Given the description of an element on the screen output the (x, y) to click on. 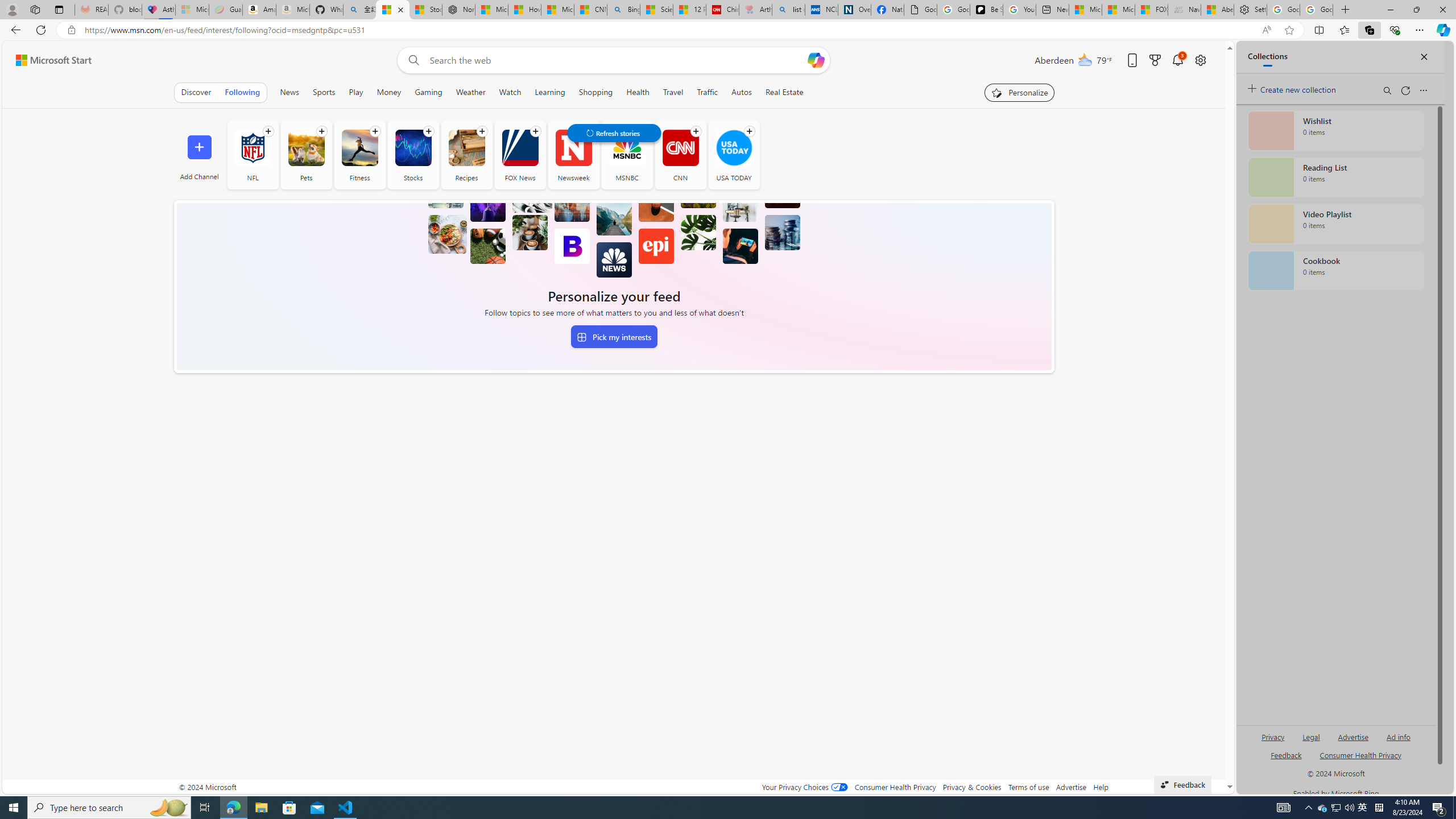
Play (355, 92)
Recipes (466, 147)
Fitness (359, 147)
Autos (741, 92)
Health (637, 92)
NFL (252, 147)
Pets (306, 147)
Newsweek (573, 155)
Skip to footer (46, 59)
Play (355, 92)
